Given the description of an element on the screen output the (x, y) to click on. 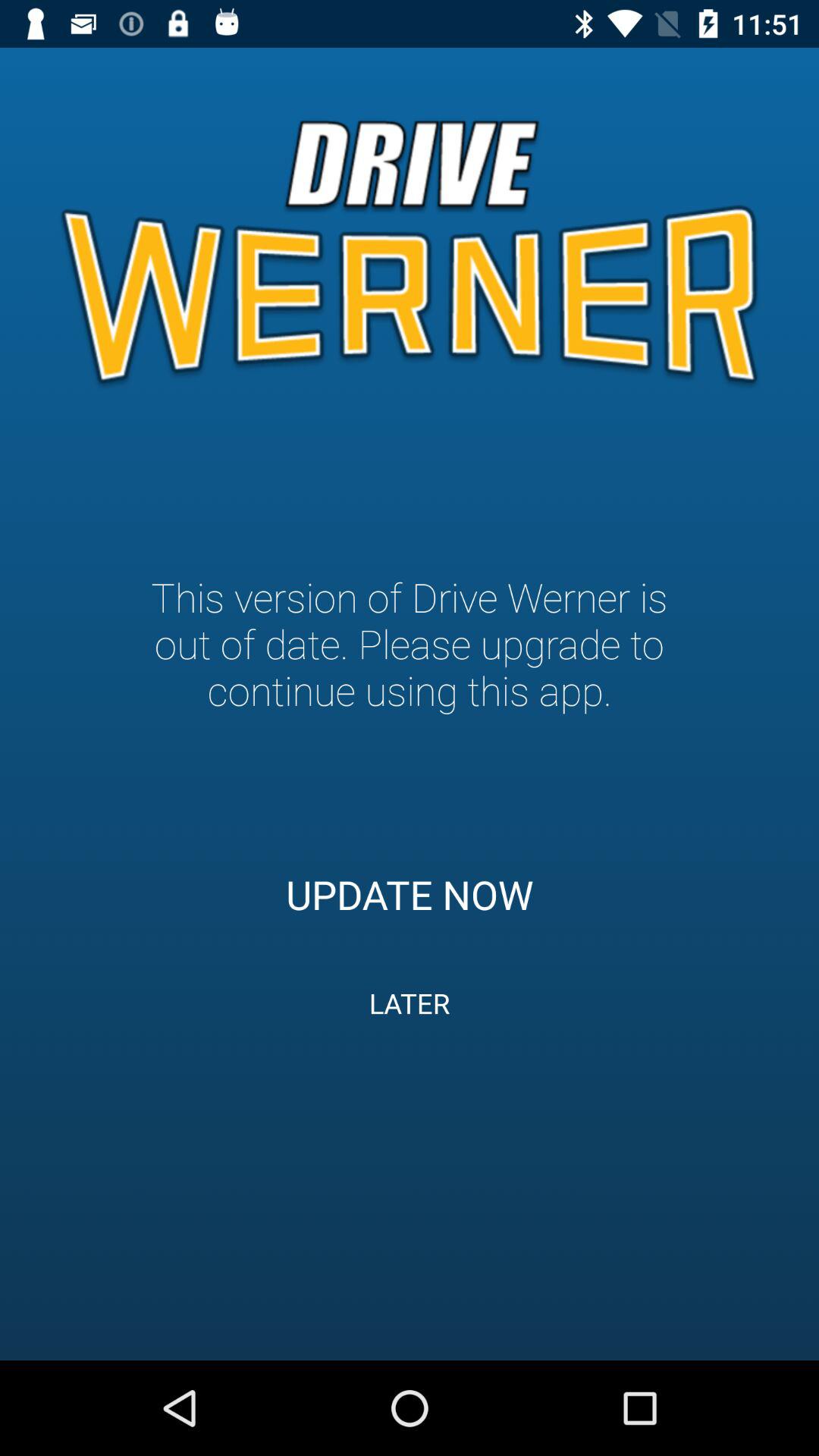
tap item below the this version of item (409, 894)
